Given the description of an element on the screen output the (x, y) to click on. 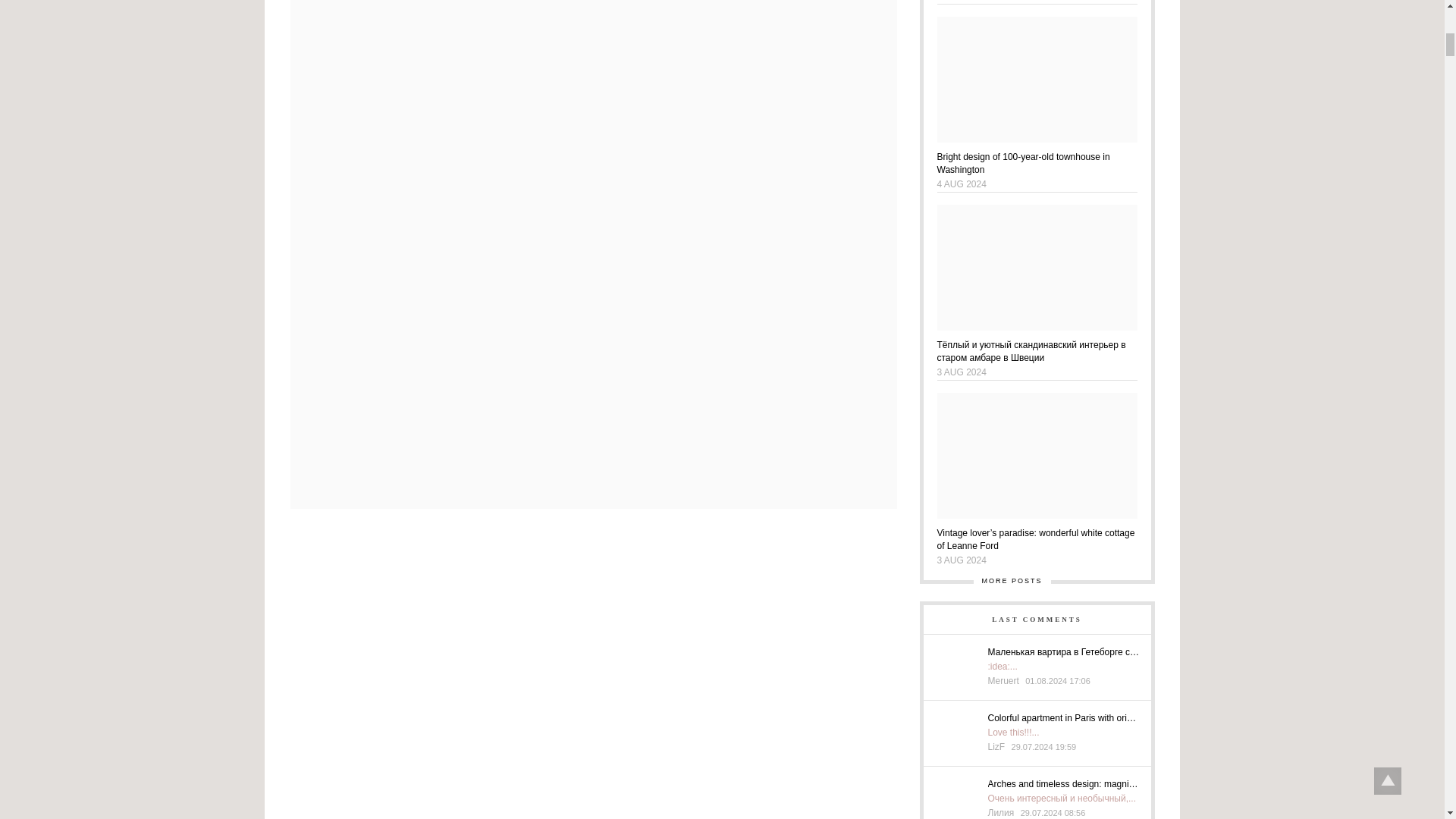
Bright design of 100-year-old townhouse in Washington (1037, 161)
